Given the description of an element on the screen output the (x, y) to click on. 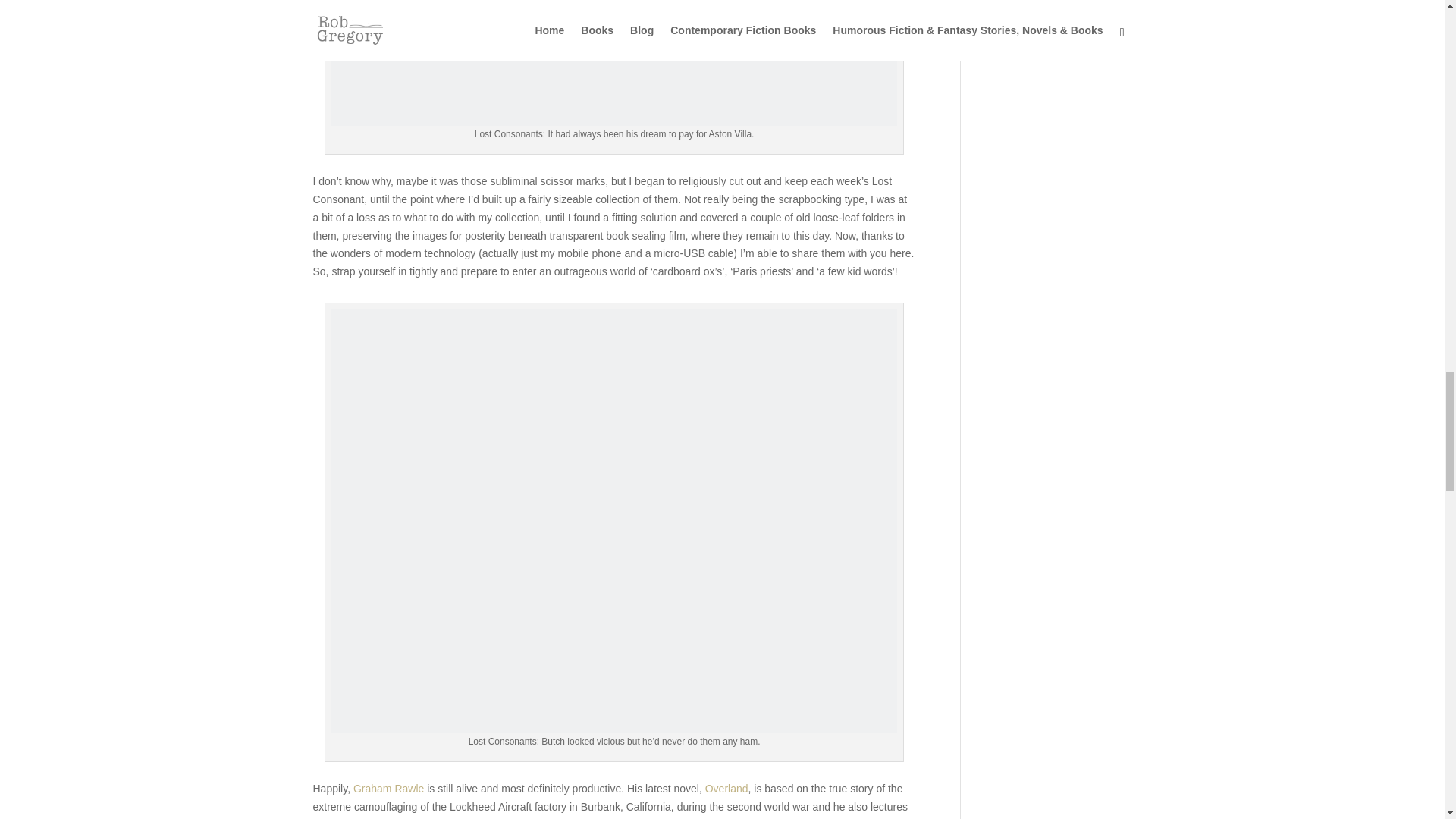
Graham Rawle (388, 788)
Overland (726, 788)
